Given the description of an element on the screen output the (x, y) to click on. 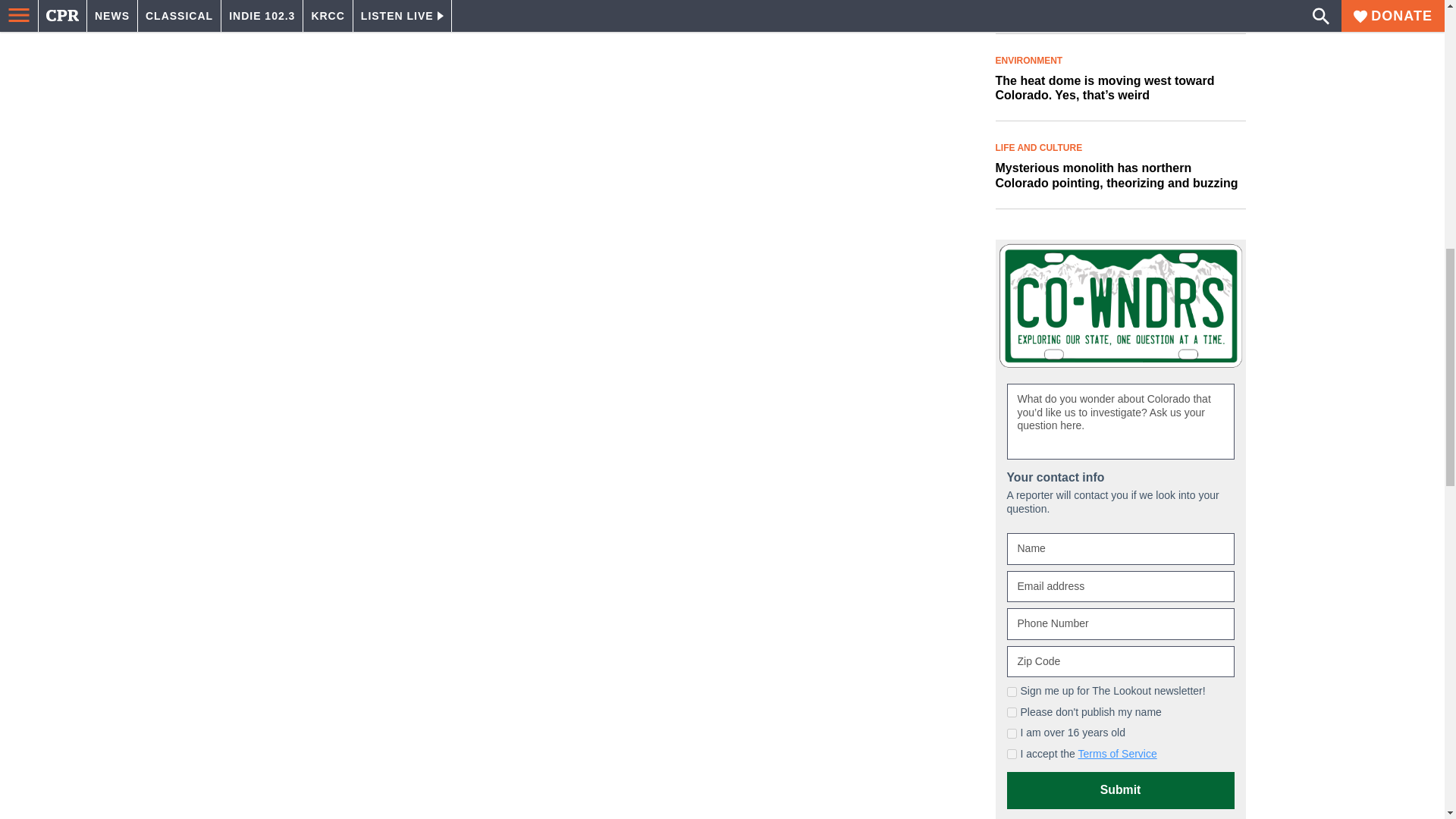
on (1011, 691)
on (1011, 712)
on (1011, 733)
on (1011, 754)
